Given the description of an element on the screen output the (x, y) to click on. 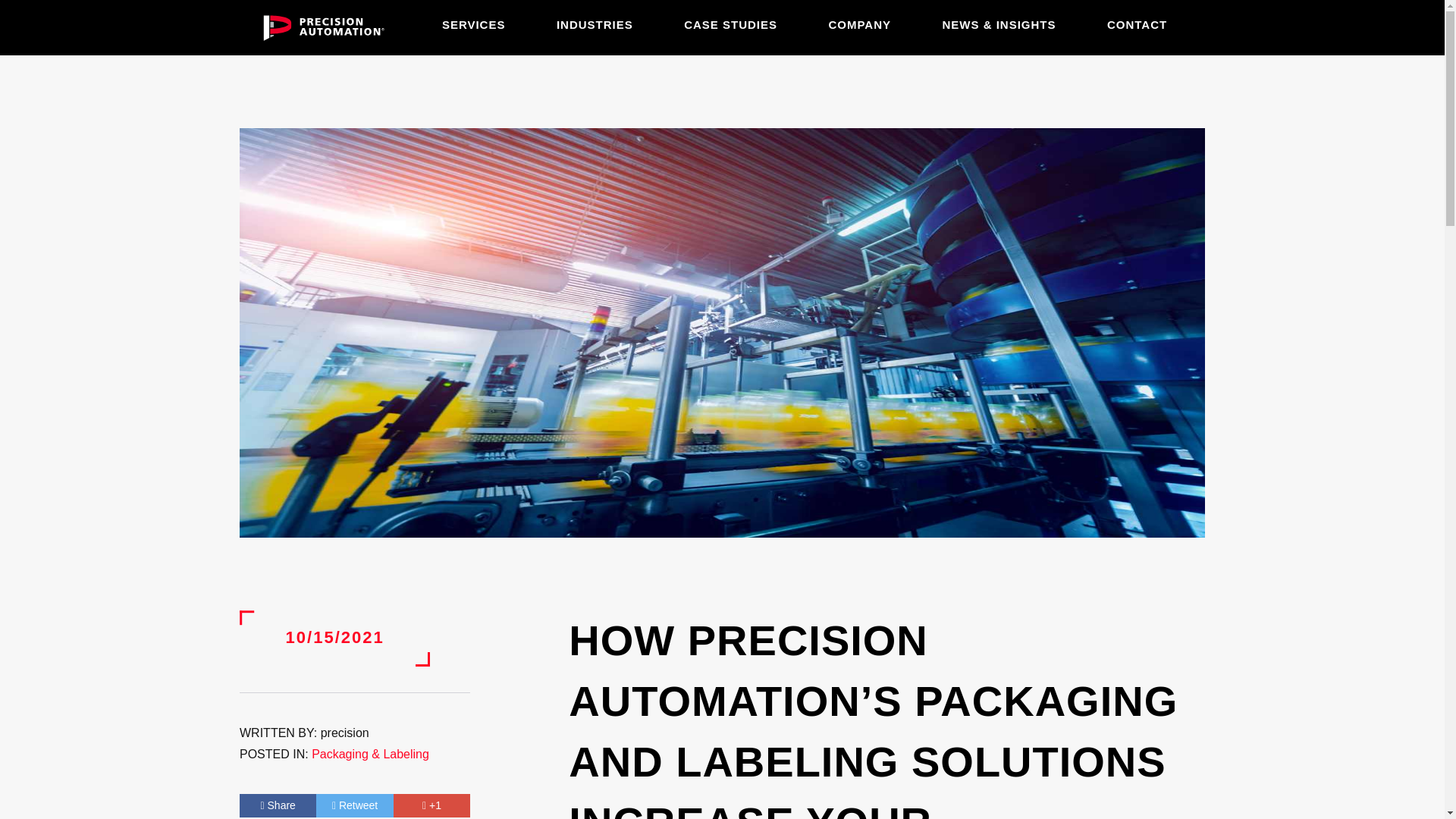
SERVICES (473, 24)
CASE STUDIES (730, 24)
CONTACT (1136, 24)
COMPANY (859, 24)
INDUSTRIES (594, 24)
